Given the description of an element on the screen output the (x, y) to click on. 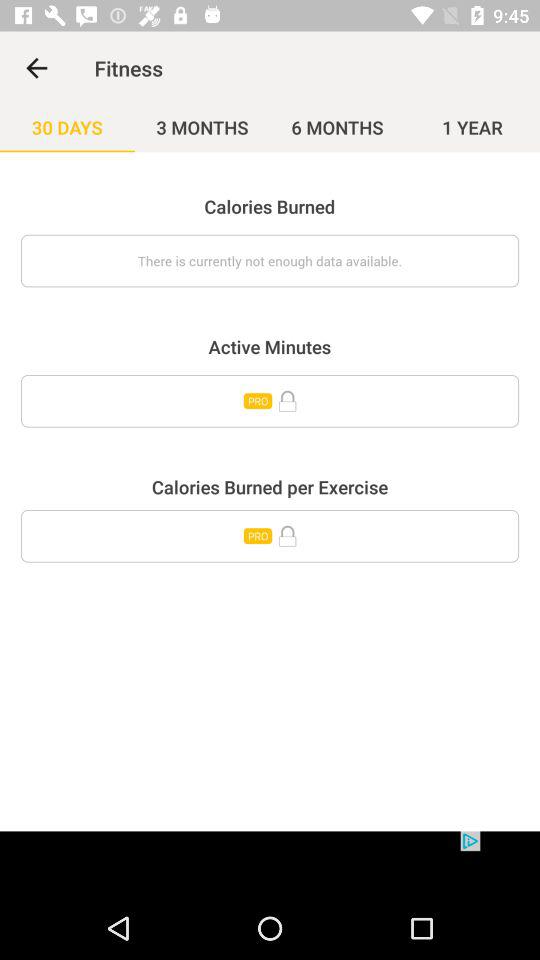
open paid content (269, 536)
